Given the description of an element on the screen output the (x, y) to click on. 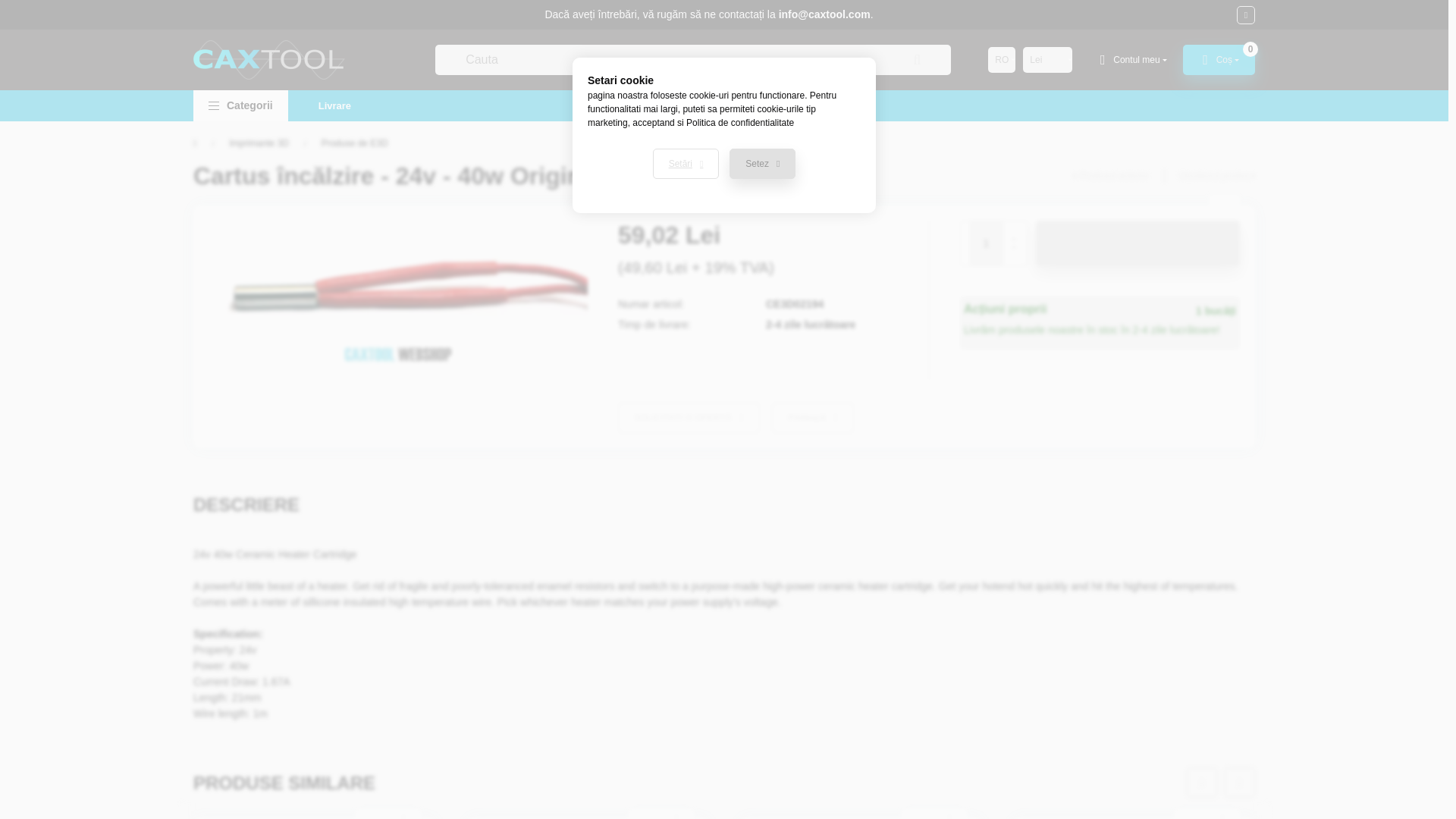
Contul meu (1131, 60)
Produsul anterior (1110, 175)
Categorii (240, 105)
Imprimante 3D (258, 142)
Produsul anterior (1110, 175)
Produse de E3D (354, 142)
Livrare (334, 105)
